Given the description of an element on the screen output the (x, y) to click on. 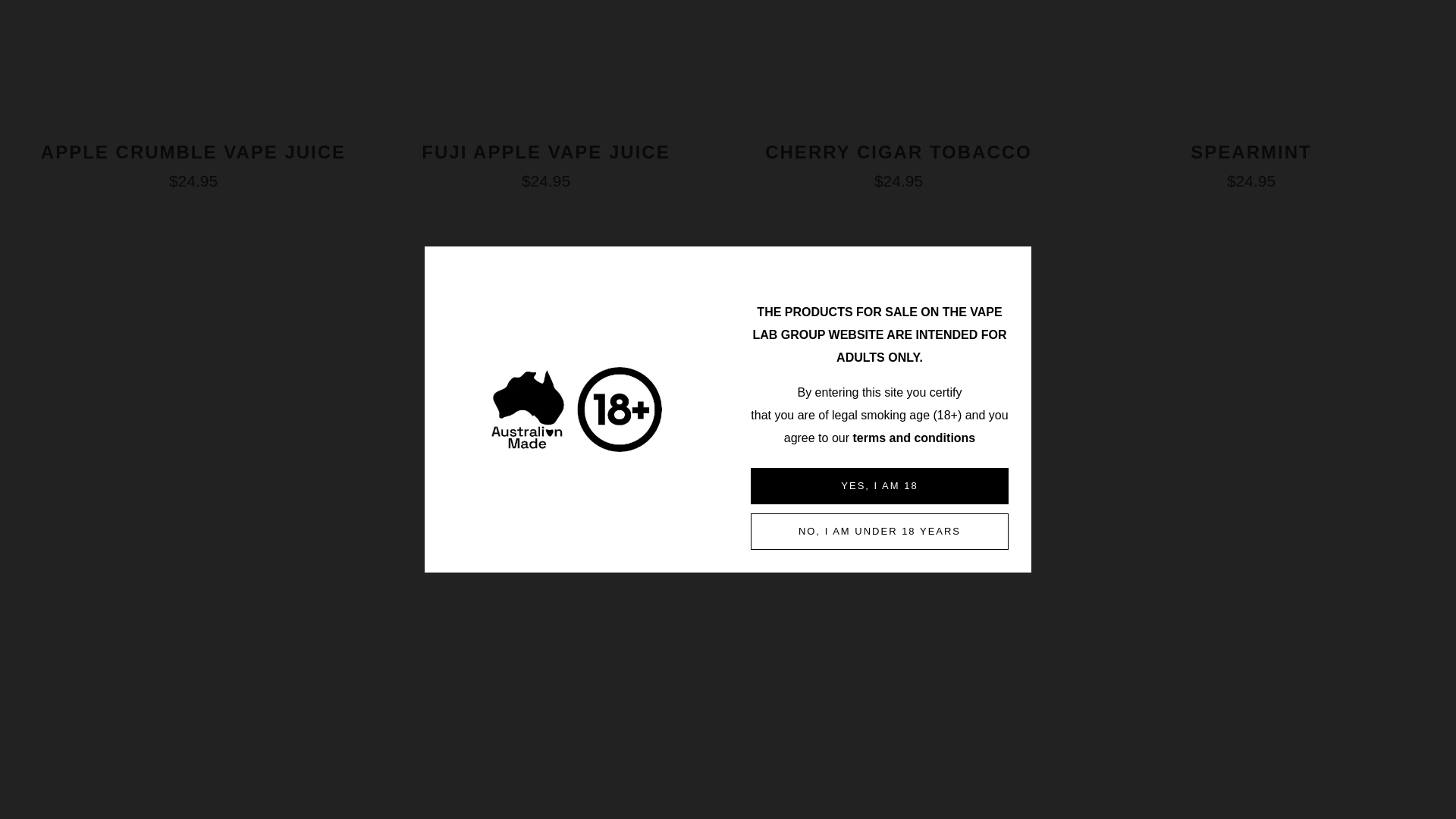
PayPal (36, 794)
